Given the description of an element on the screen output the (x, y) to click on. 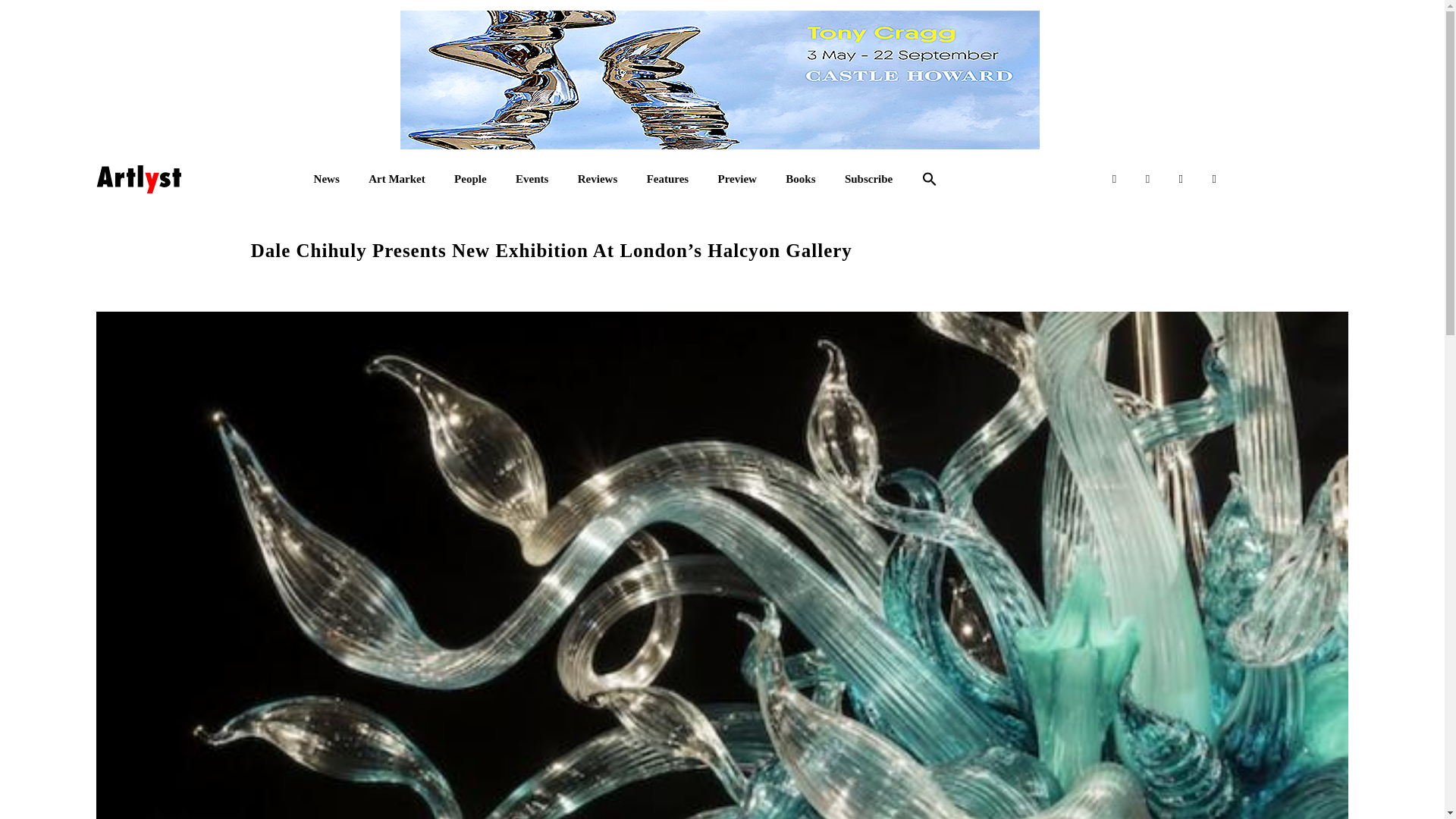
Features (667, 178)
News (326, 178)
Events (531, 178)
Preview (737, 178)
Subscribe (868, 178)
People (470, 178)
Reviews (597, 178)
Art Market (396, 178)
Books (800, 178)
